Given the description of an element on the screen output the (x, y) to click on. 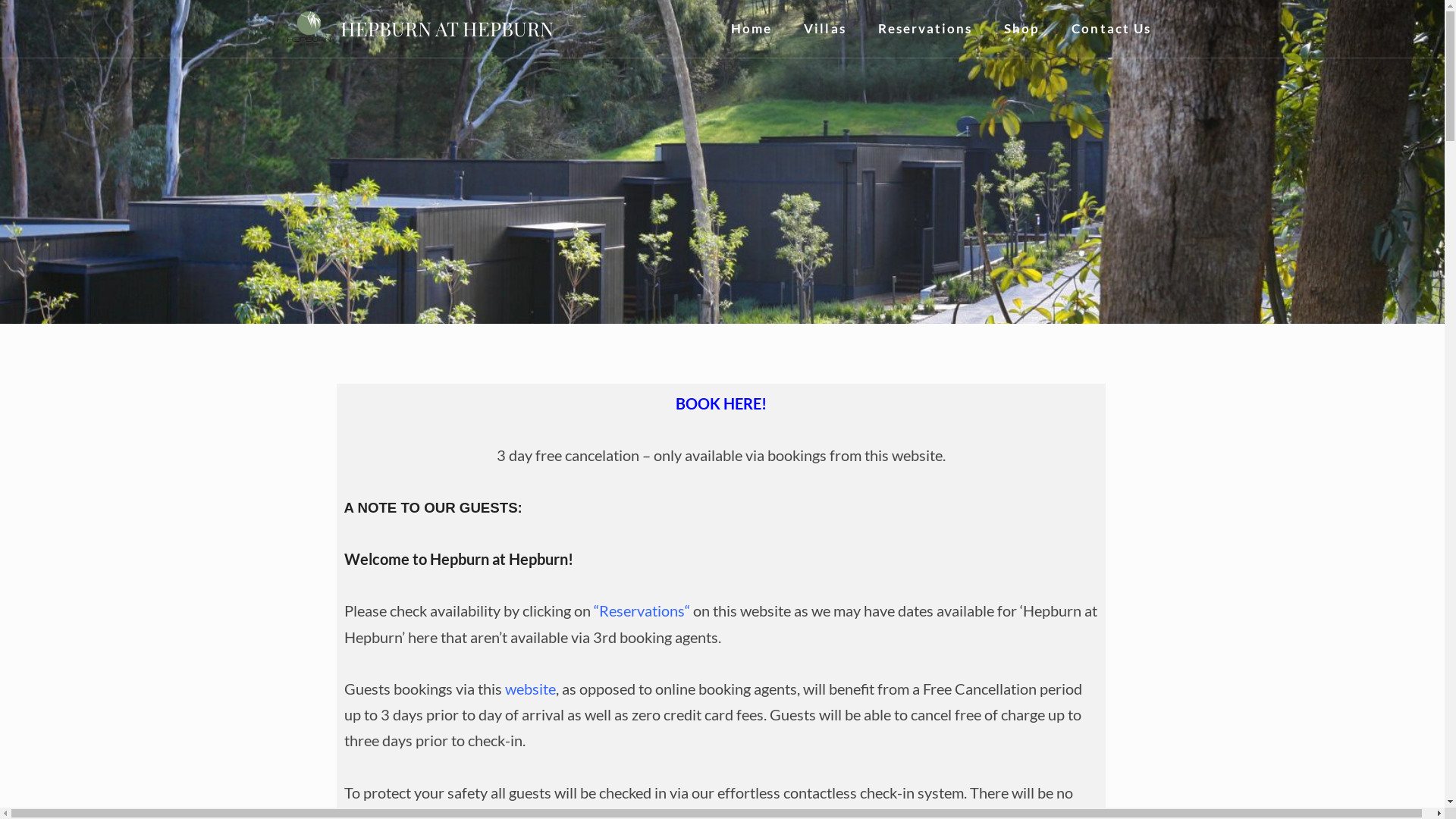
HEPBURN AT HEPBURN Element type: text (446, 28)
Shop Element type: text (1021, 28)
Home Element type: text (751, 28)
BOOK HERE! Element type: text (720, 403)
Reservations Element type: text (925, 28)
Reservations Element type: text (641, 610)
website Element type: text (530, 688)
Contact Us Element type: text (1111, 28)
Villas Element type: text (824, 28)
